Given the description of an element on the screen output the (x, y) to click on. 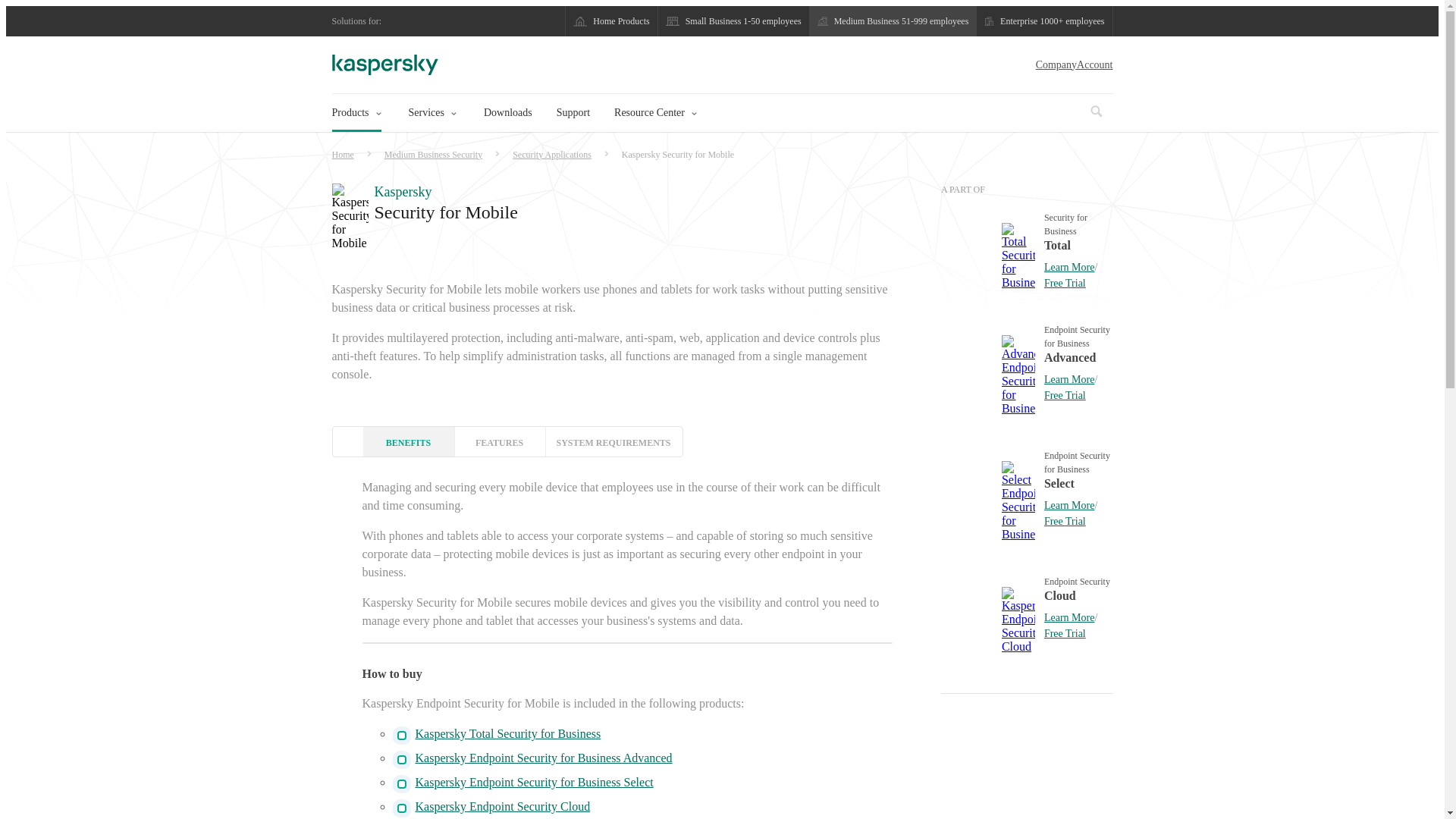
Medium Business 51-999 employees Element type: text (893, 21)
Learn More Element type: text (1069, 505)
CompanyAccount Element type: text (1074, 64)
Learn More Element type: text (1069, 267)
Free Trial Element type: text (1064, 521)
Learn More Element type: text (1069, 379)
FEATURES Element type: text (498, 441)
Medium Business Security Element type: text (433, 154)
Services Element type: text (453, 112)
Free Trial Element type: text (1064, 282)
Support Element type: text (572, 112)
Free Trial Element type: text (1064, 395)
Services Element type: text (431, 112)
Downloads Element type: text (507, 112)
Small Business 1-50 employees Element type: text (733, 21)
Kaspersky Total Security for Business Element type: text (508, 733)
Kaspersky Endpoint Security Cloud Element type: text (502, 806)
Kaspersky Endpoint Security for Business Select Element type: text (534, 781)
BENEFITS Element type: text (407, 441)
Enterprise 1000+ employees Element type: text (1044, 21)
SYSTEM REQUIREMENTS Element type: text (612, 441)
Kaspersky Endpoint Security for Business Advanced Element type: text (543, 757)
Learn More Element type: text (1069, 617)
Resource Center Element type: text (655, 112)
Home Products Element type: text (611, 21)
Resource Center Element type: text (693, 112)
Products Element type: text (356, 112)
Kaspersky logo Element type: text (385, 65)
Products Element type: text (377, 112)
Security Applications Element type: text (551, 154)
Free Trial Element type: text (1064, 633)
Home Element type: text (343, 154)
